Given the description of an element on the screen output the (x, y) to click on. 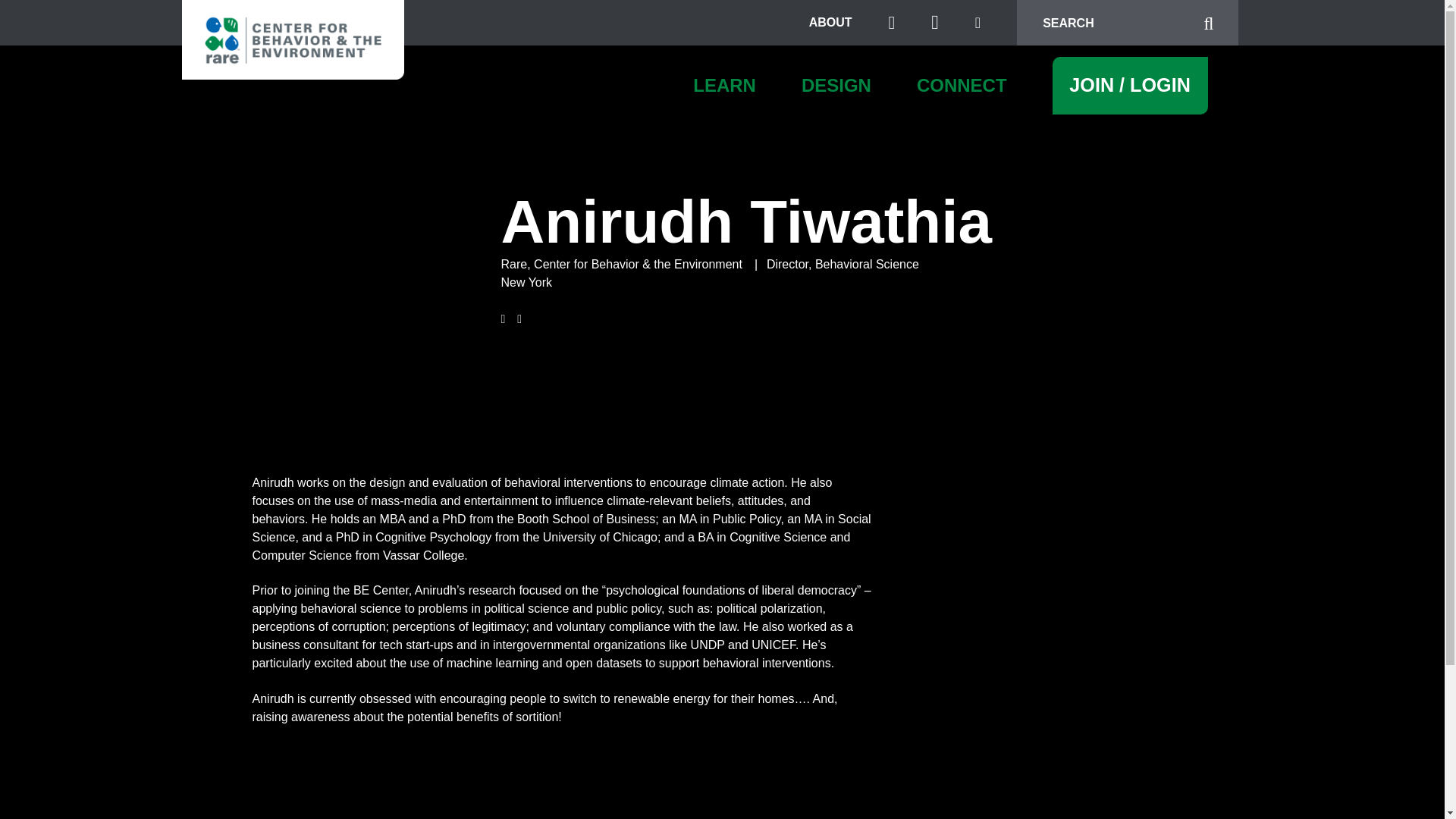
CONNECT (962, 85)
DESIGN (836, 85)
LEARN (724, 85)
ABOUT (830, 22)
